Given the description of an element on the screen output the (x, y) to click on. 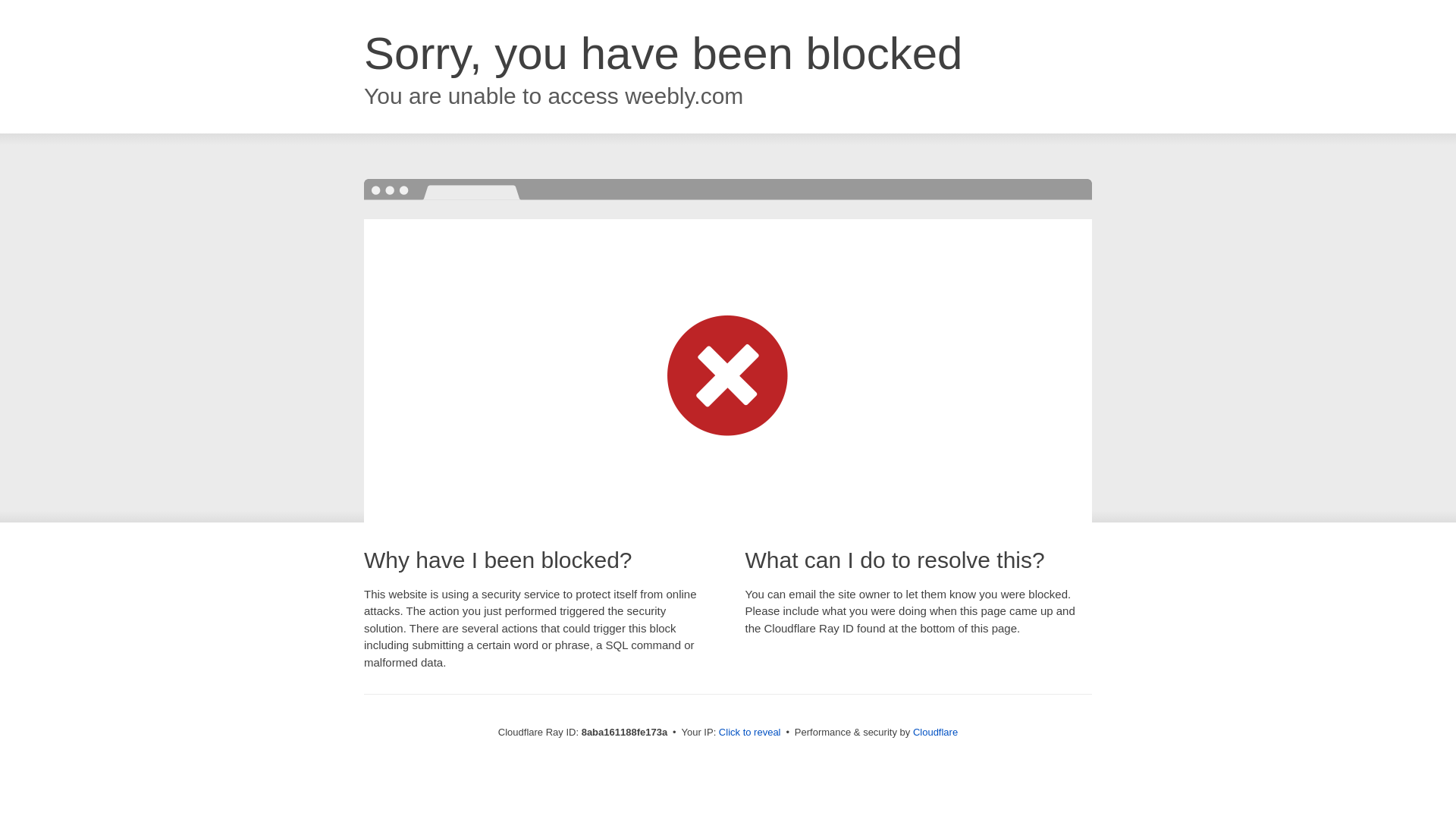
Click to reveal (749, 732)
Cloudflare (935, 731)
